Given the description of an element on the screen output the (x, y) to click on. 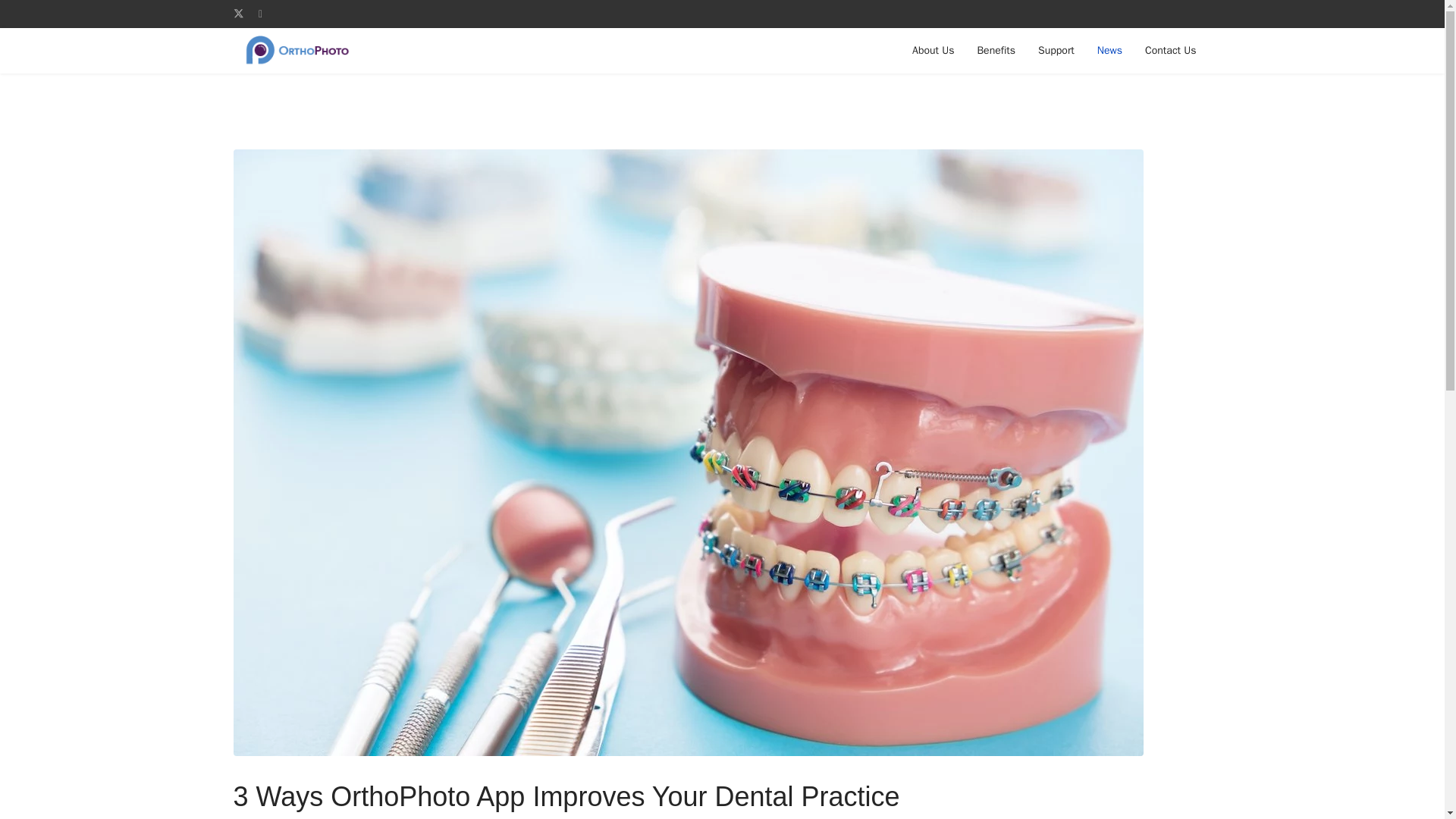
About Us (933, 50)
Support (1056, 50)
News (1110, 50)
Contact Us (1170, 50)
Benefits (995, 50)
